Given the description of an element on the screen output the (x, y) to click on. 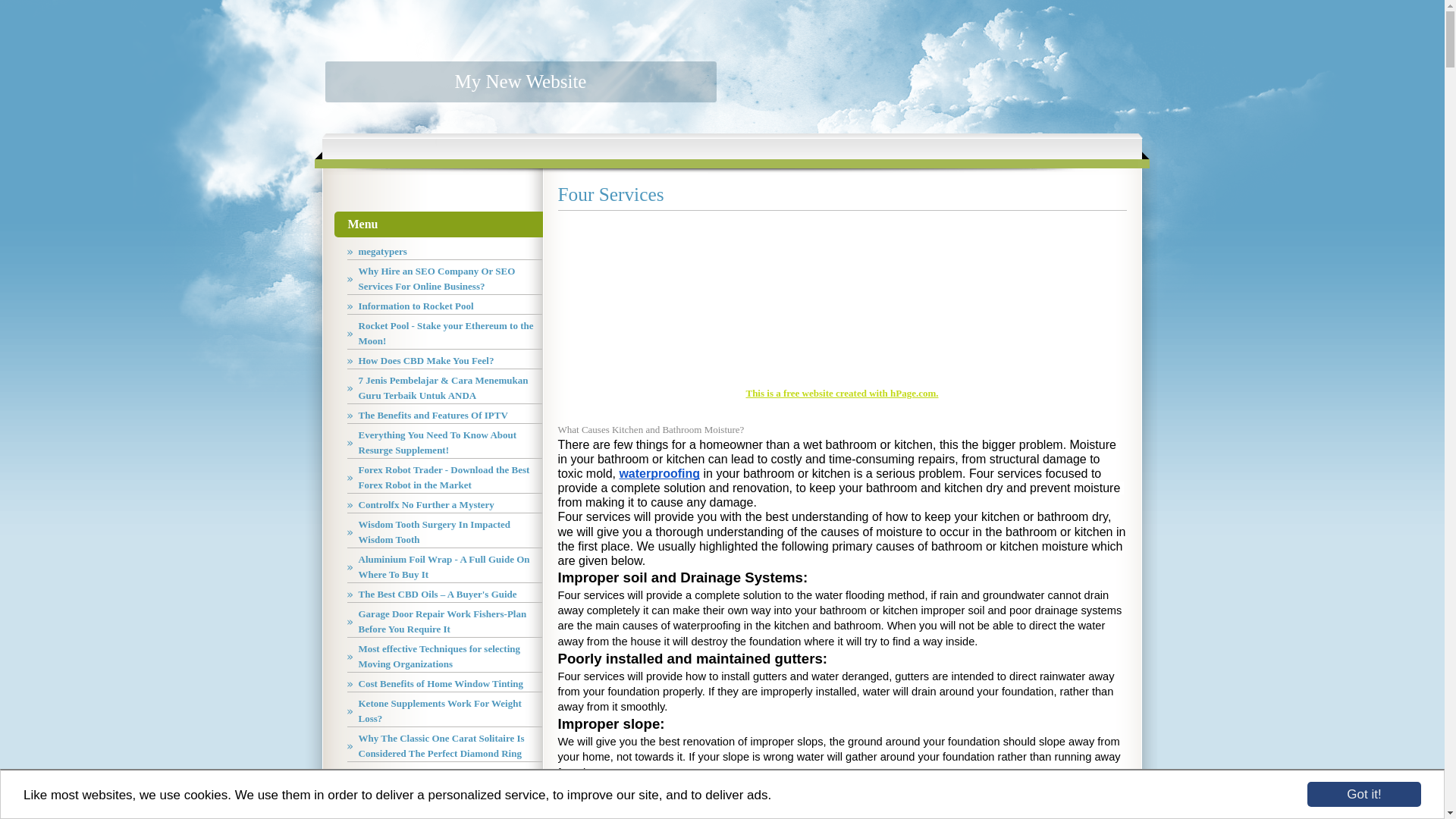
How Does CBD Make You Feel? (444, 360)
The Benefits and Features Of IPTV (444, 415)
Why Hire an SEO Company Or SEO Services For Online Business? (444, 278)
Cost Benefits of Home Window Tinting (444, 684)
Wisdom Tooth Surgery In Impacted Wisdom Tooth (444, 531)
megatypers (444, 252)
Rocket Pool - Stake your Ethereum to the Moon! (444, 333)
Controlfx No Further a Mystery (444, 505)
